Given the description of an element on the screen output the (x, y) to click on. 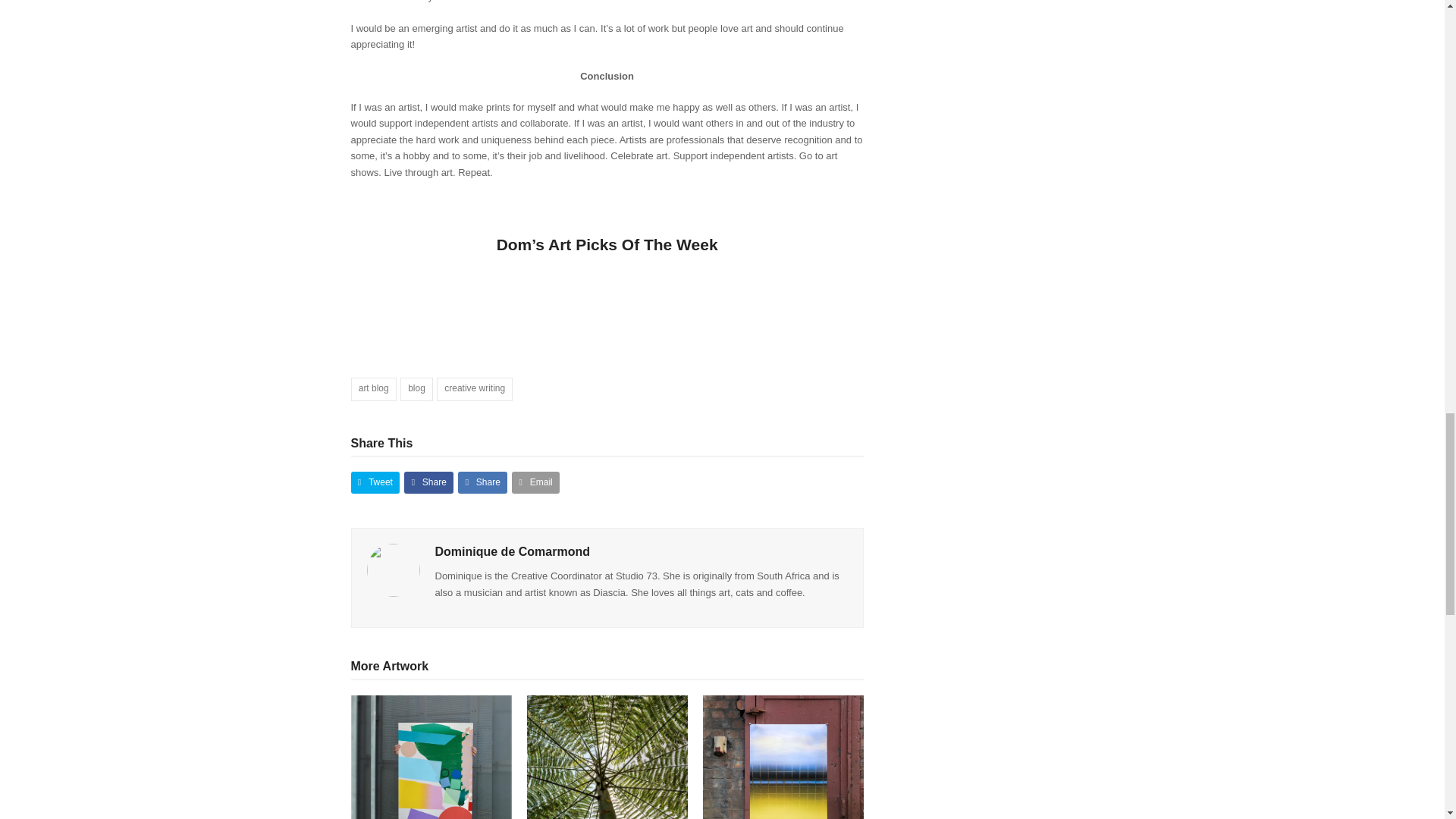
Visit Author Page (393, 568)
blog (416, 389)
creative writing (474, 389)
Share (428, 482)
Email (535, 482)
For Artists: The Advice You Really Need (430, 774)
Share (482, 482)
Visit Author Page (512, 551)
art blog (373, 389)
Tweet (374, 482)
Dominique de Comarmond (512, 551)
The Art of Photography (607, 774)
